Given the description of an element on the screen output the (x, y) to click on. 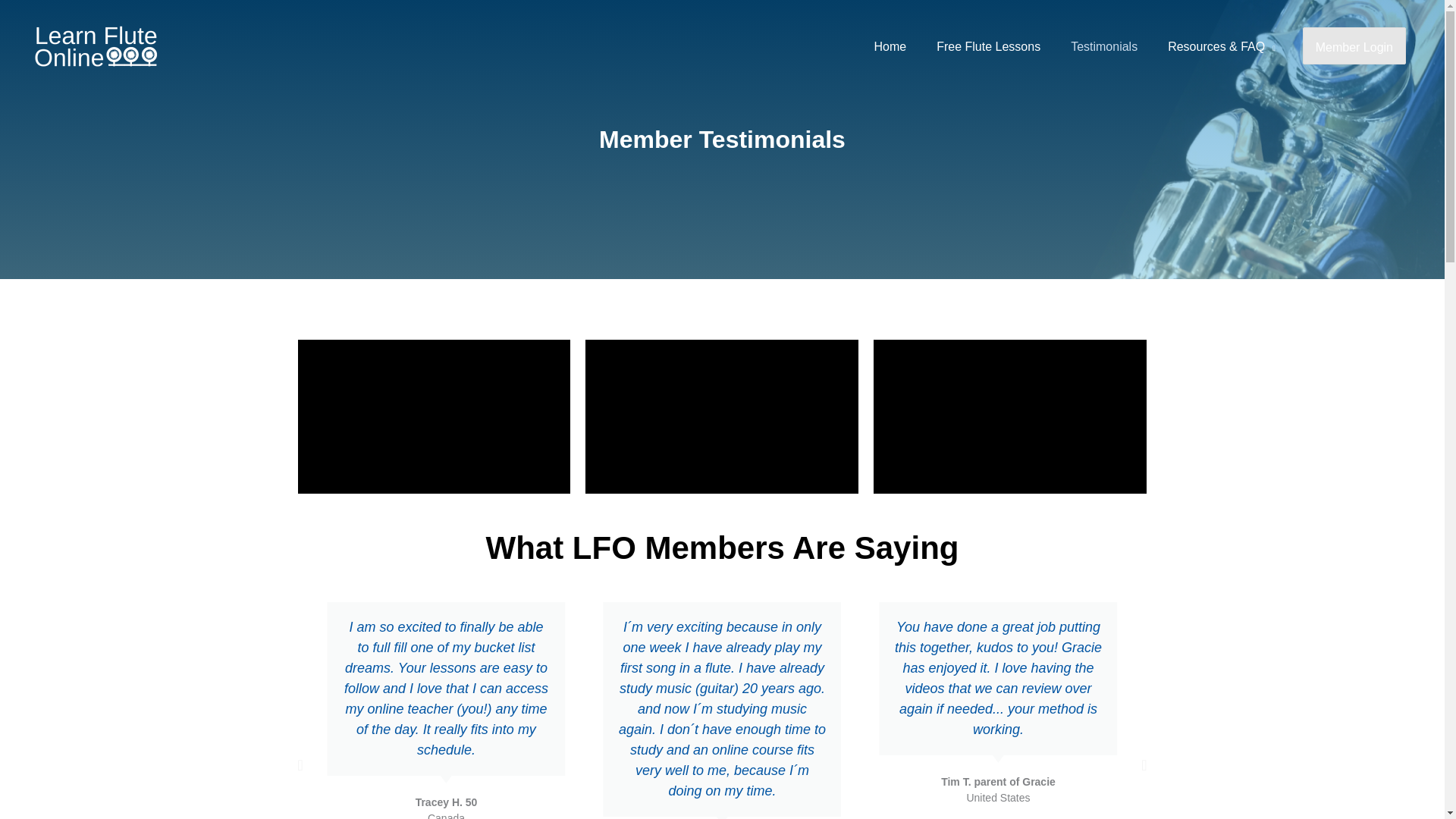
Home (890, 46)
Member Login (1354, 47)
vimeo Video Player (1010, 416)
vimeo Video Player (433, 416)
Free Flute Lessons (988, 46)
Member Login (1354, 45)
vimeo Video Player (722, 416)
Testimonials (1104, 46)
